Given the description of an element on the screen output the (x, y) to click on. 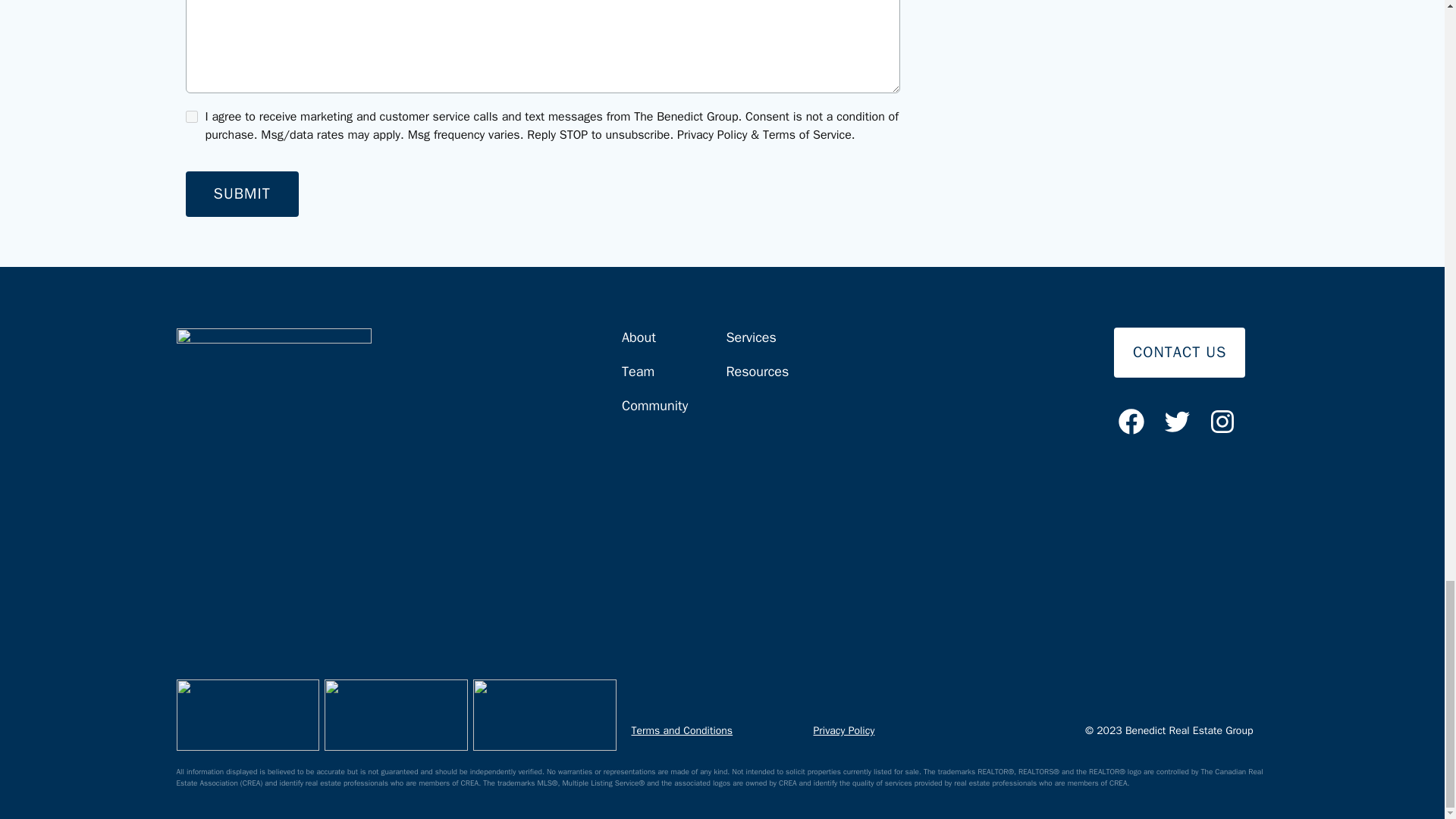
Facebook (1131, 418)
SUBMIT (241, 194)
Instagram (1221, 418)
Community (654, 412)
Terms and Conditions (681, 730)
Resources (757, 378)
Team (654, 378)
Twitter (1176, 418)
CONTACT US (1179, 352)
About (654, 344)
